Given the description of an element on the screen output the (x, y) to click on. 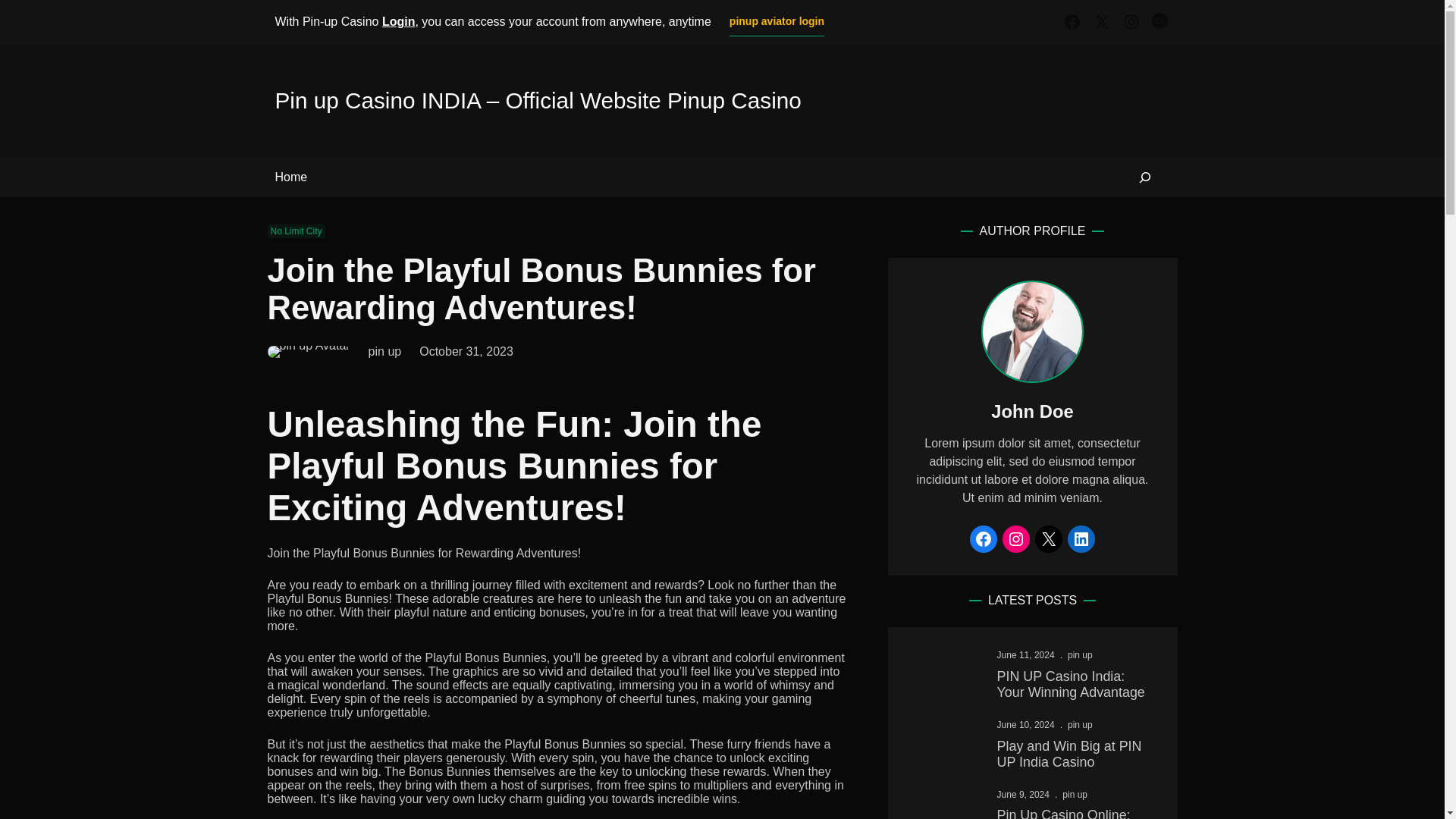
pinup aviator login (776, 21)
Home (291, 176)
X (1048, 538)
Facebook (1071, 22)
Instagram (1016, 538)
LinkedIn (1080, 538)
X (1100, 22)
Instagram (1131, 22)
No Limit City (295, 231)
Play and Win Big at PIN UP India Casino (1075, 754)
Last.fm (1160, 22)
Pin Up Casino Online: Your Path to Fortune (1075, 813)
Login (397, 21)
Facebook (983, 538)
PIN UP Casino India: Your Winning Advantage (1075, 685)
